Given the description of an element on the screen output the (x, y) to click on. 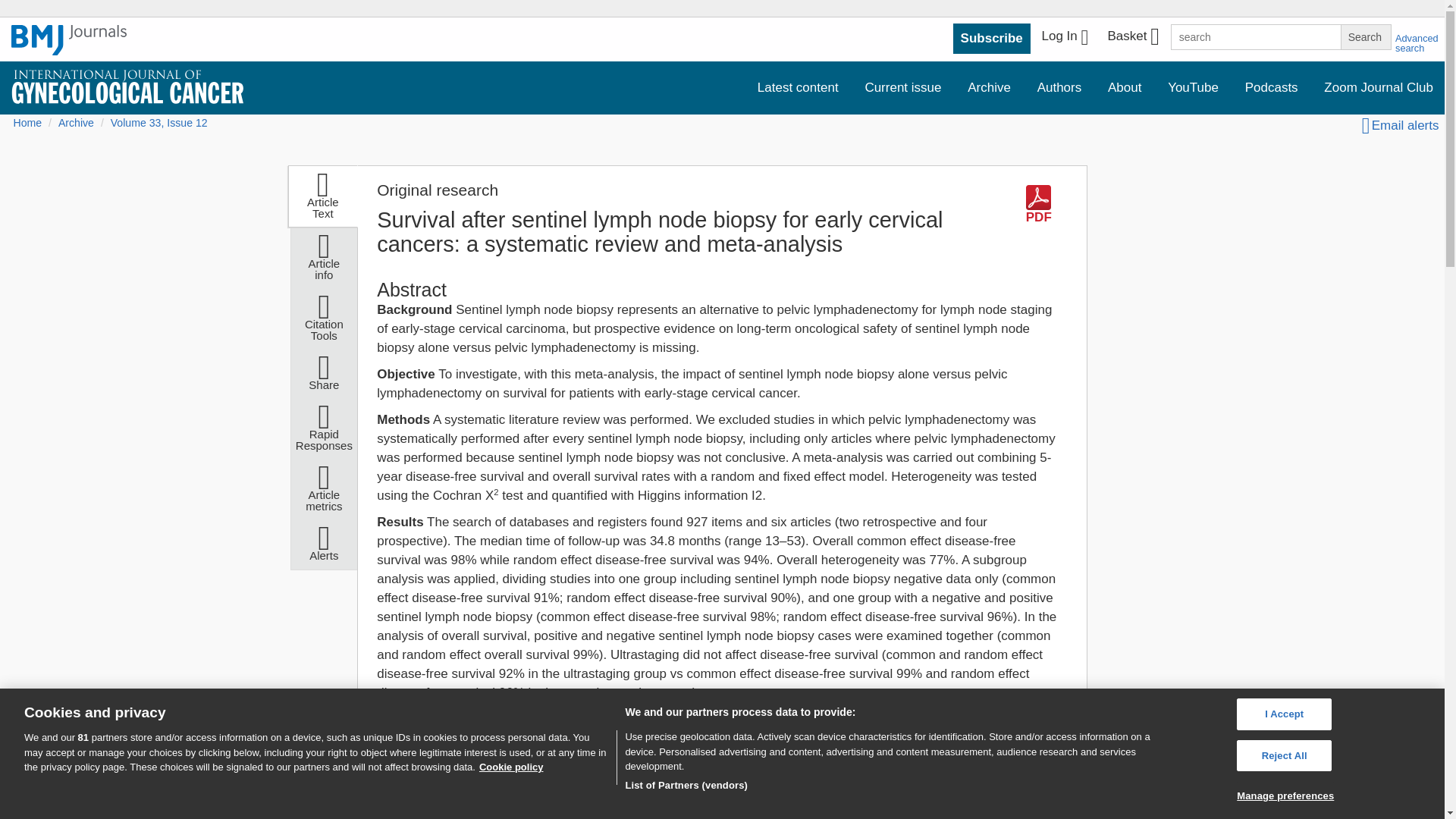
Search (1364, 36)
Basket (1132, 38)
Archive (989, 87)
Advanced search (1416, 43)
Subscribe (991, 38)
About (1124, 87)
Authors (1059, 87)
BMJ Journals (68, 40)
Podcasts (1270, 87)
Search (1364, 36)
BMJ Journals (68, 47)
Log In (1064, 38)
Current issue (902, 87)
Latest content (797, 87)
3rd party ad content (947, 814)
